Given the description of an element on the screen output the (x, y) to click on. 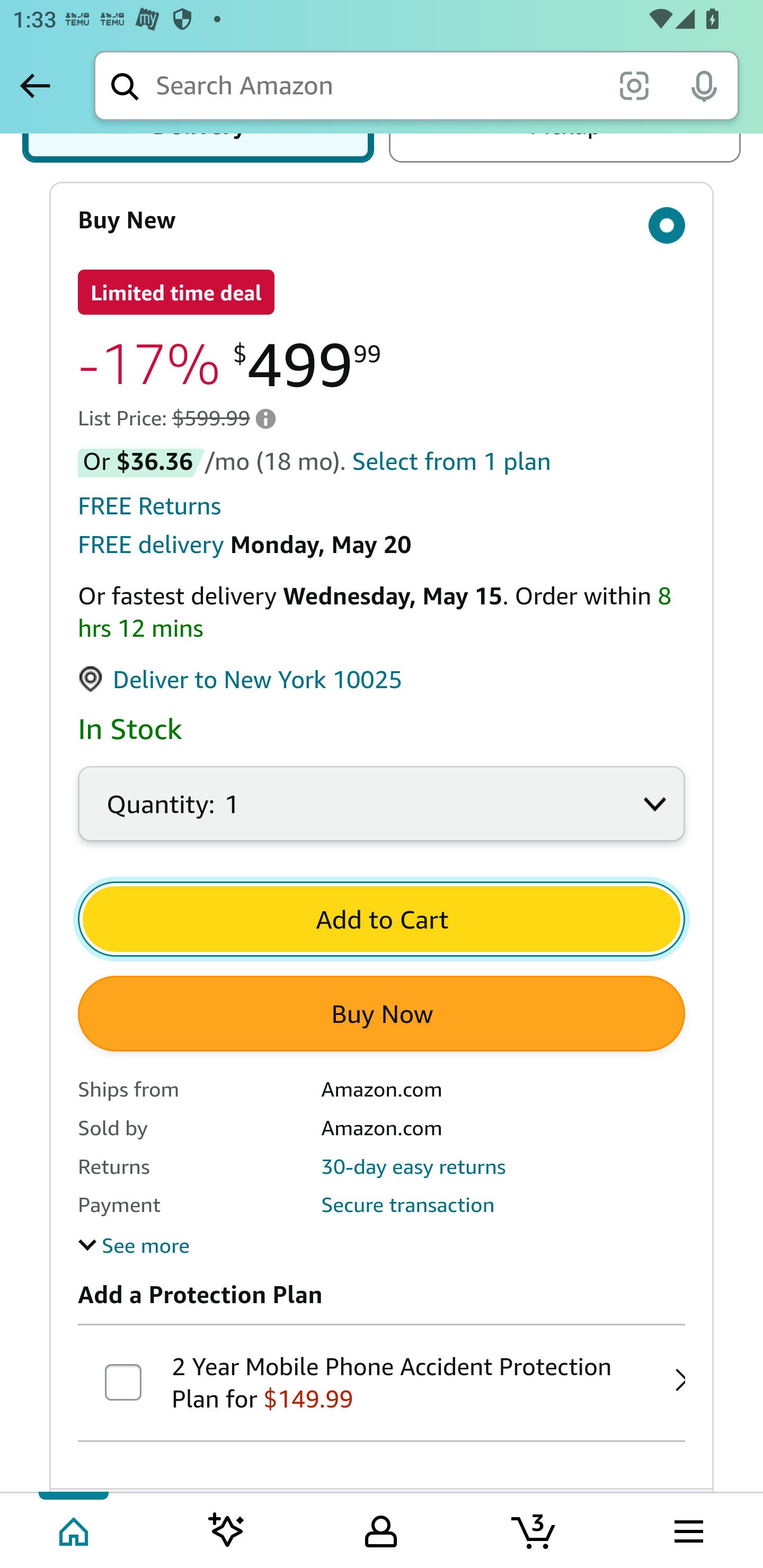
Back (35, 85)
scan it (633, 85)
Buy New (381, 220)
Learn more about Amazon pricing and savings (265, 418)
Select from 1 plan (450, 461)
FREE Returns (149, 506)
FREE delivery (150, 546)
Deliver to New York 10025‌ (240, 680)
1 (381, 814)
Add to Cart (381, 918)
Buy Now (381, 1014)
See more (133, 1244)
Home Tab 1 of 5 (75, 1529)
Inspire feed Tab 2 of 5 (227, 1529)
Your Amazon.com Tab 3 of 5 (380, 1529)
Cart 3 items Tab 4 of 5 3 (534, 1529)
Browse menu Tab 5 of 5 (687, 1529)
